Given the description of an element on the screen output the (x, y) to click on. 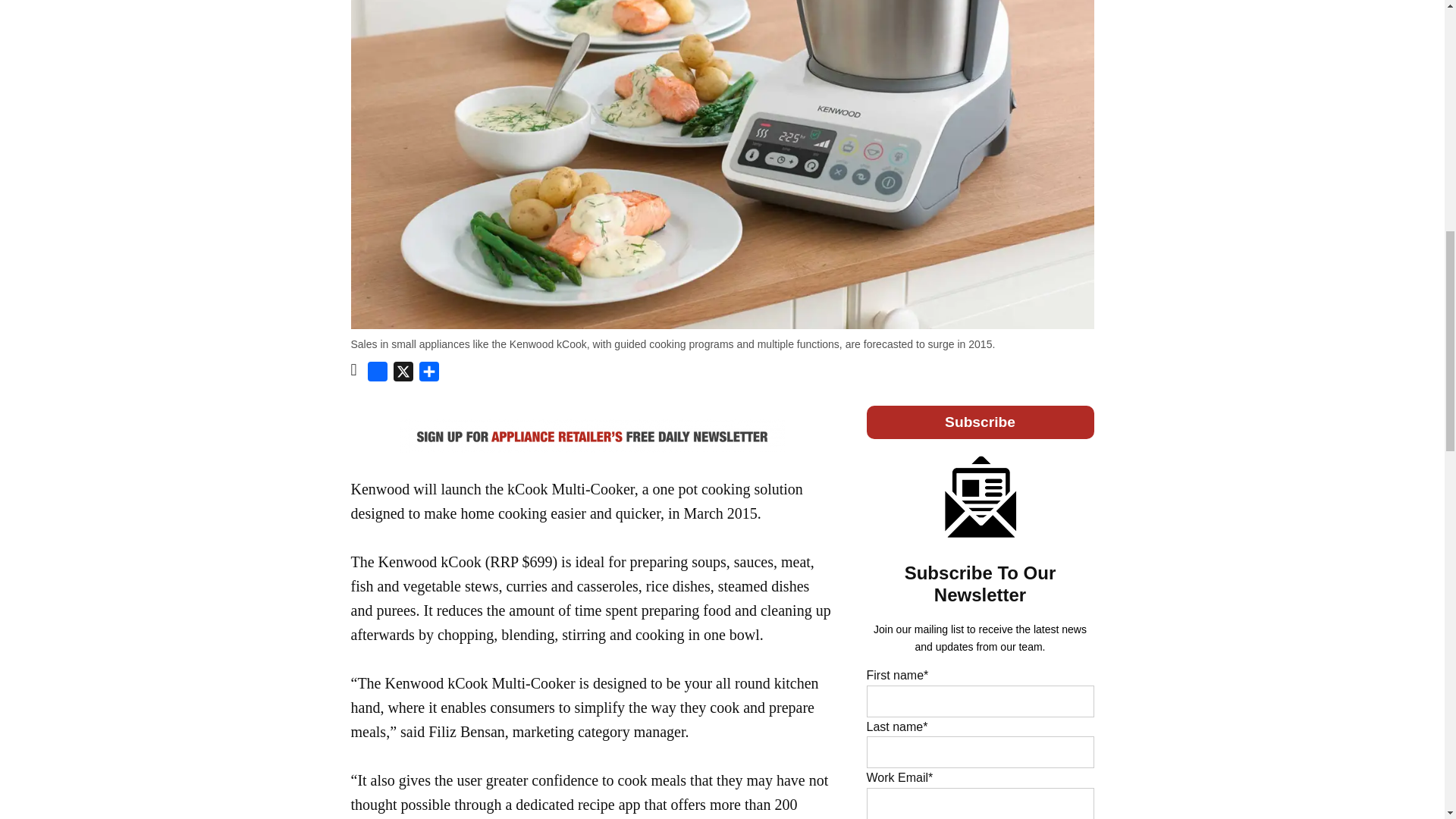
Facebook (377, 374)
Facebook (377, 374)
X (403, 374)
